Given the description of an element on the screen output the (x, y) to click on. 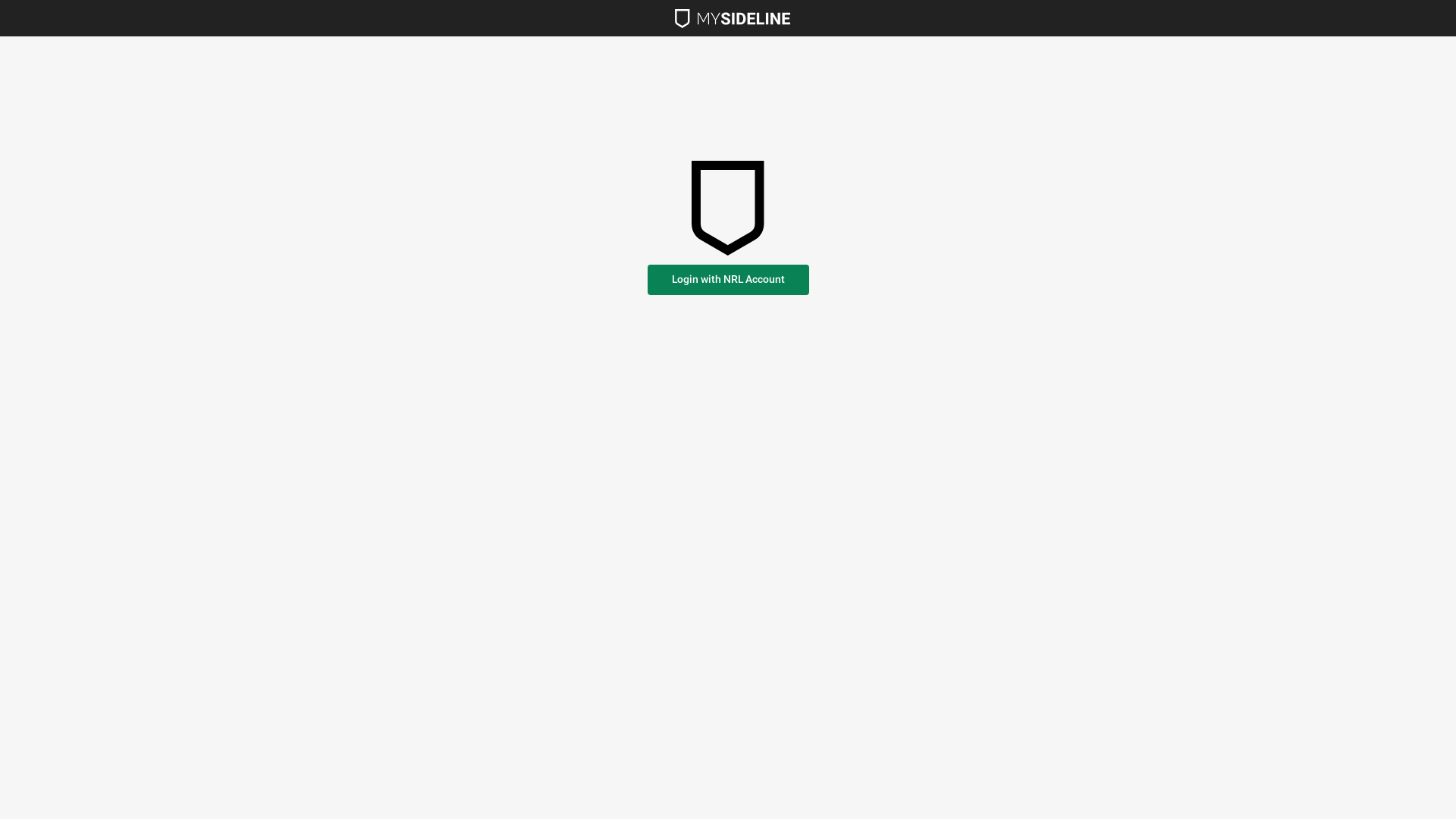
Login with NRL Account Element type: text (728, 279)
